Given the description of an element on the screen output the (x, y) to click on. 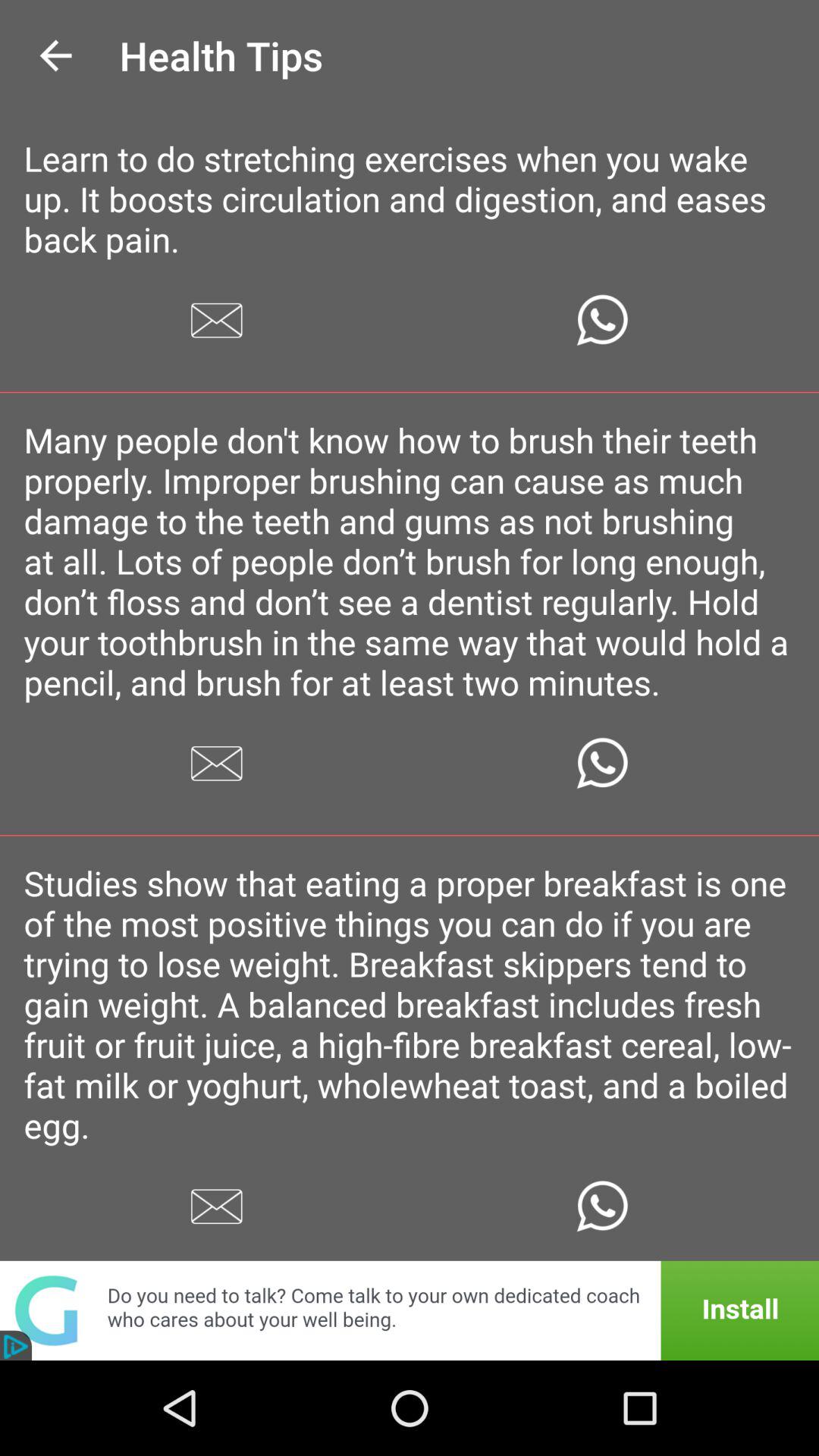
click many people don item (409, 560)
